Given the description of an element on the screen output the (x, y) to click on. 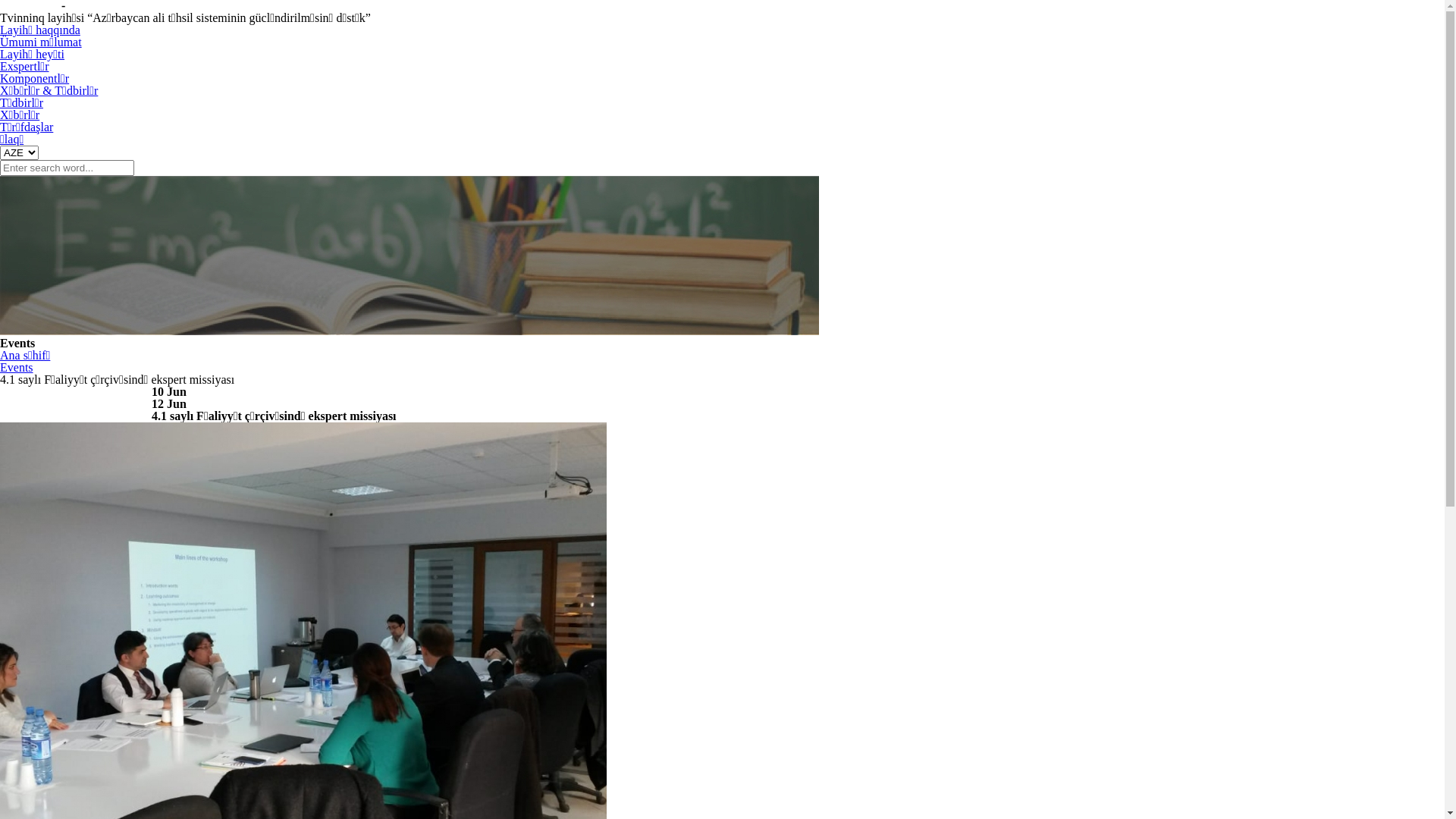
Events Element type: text (16, 439)
